Given the description of an element on the screen output the (x, y) to click on. 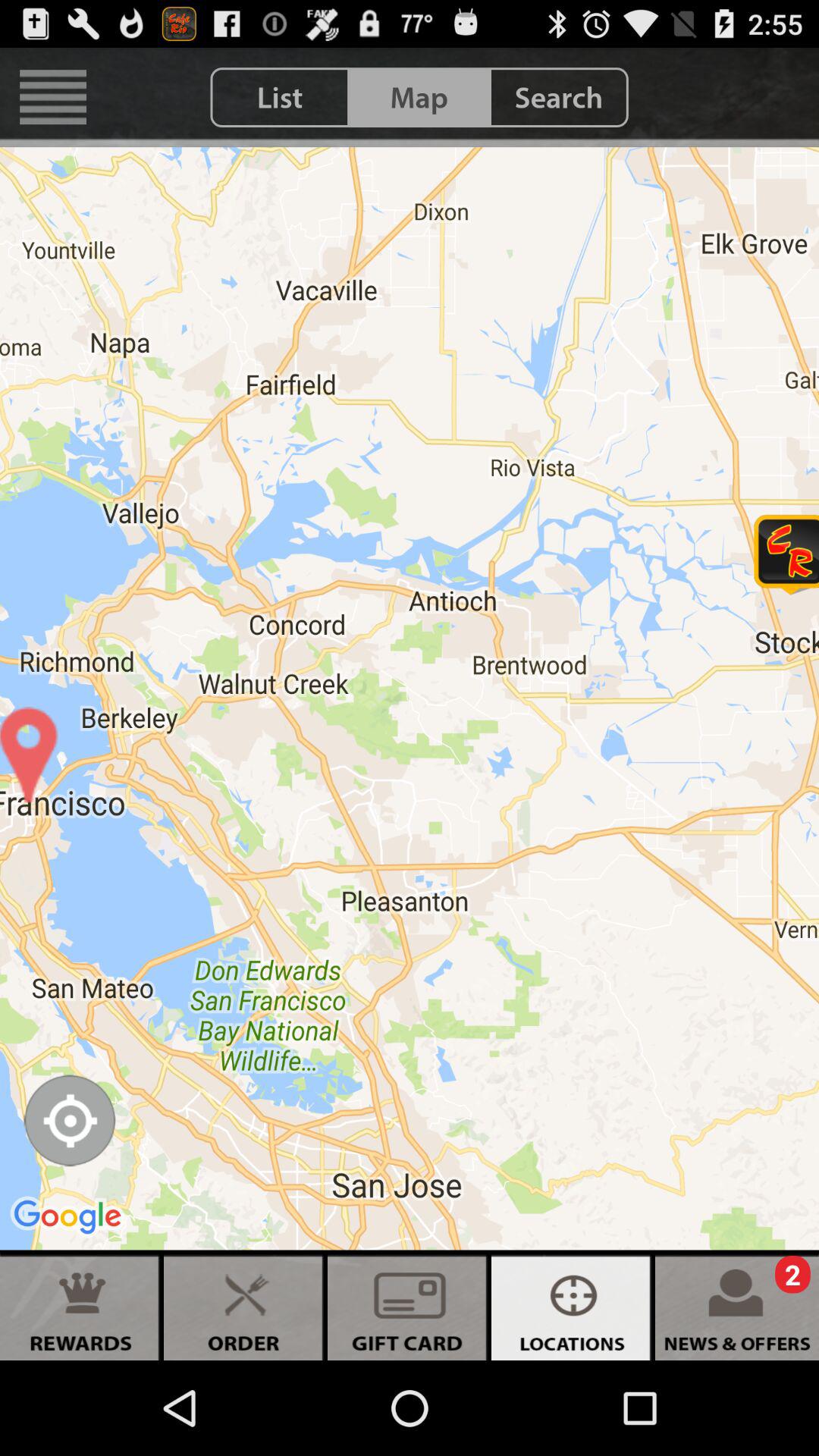
swipe until search item (558, 97)
